Given the description of an element on the screen output the (x, y) to click on. 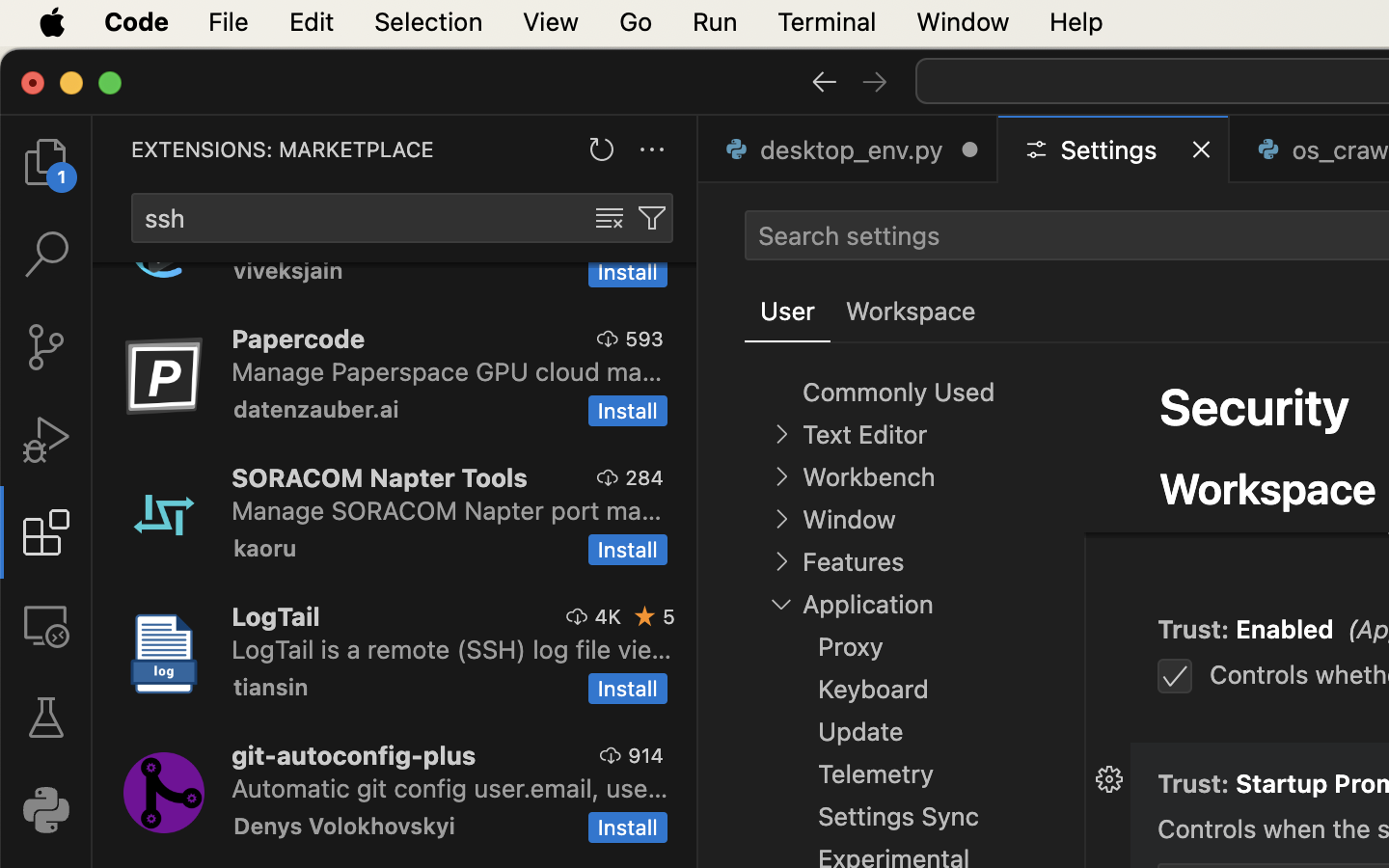
SORACOM Napter Tools Element type: AXStaticText (379, 476)
0  Element type: AXRadioButton (46, 161)
0  Element type: AXRadioButton (46, 254)
Enabled Element type: AXStaticText (1285, 629)
 Element type: AXGroup (46, 717)
